Given the description of an element on the screen output the (x, y) to click on. 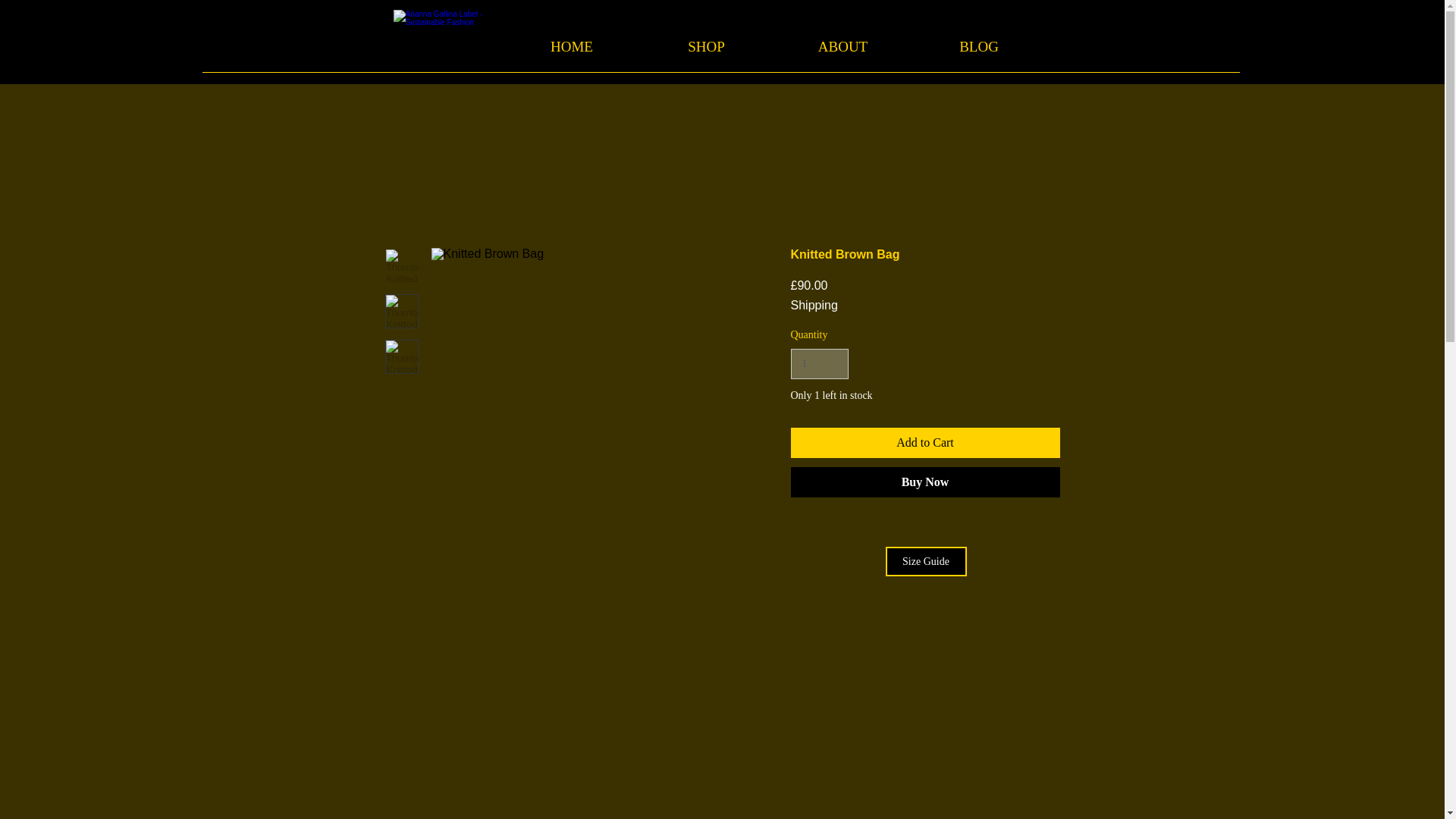
Buy Now (924, 481)
HOME (571, 46)
SHOP (706, 46)
Shipping (813, 305)
BLOG (978, 46)
Size Guide (925, 561)
Add to Cart (924, 442)
1 (818, 364)
ABOUT (842, 46)
